Given the description of an element on the screen output the (x, y) to click on. 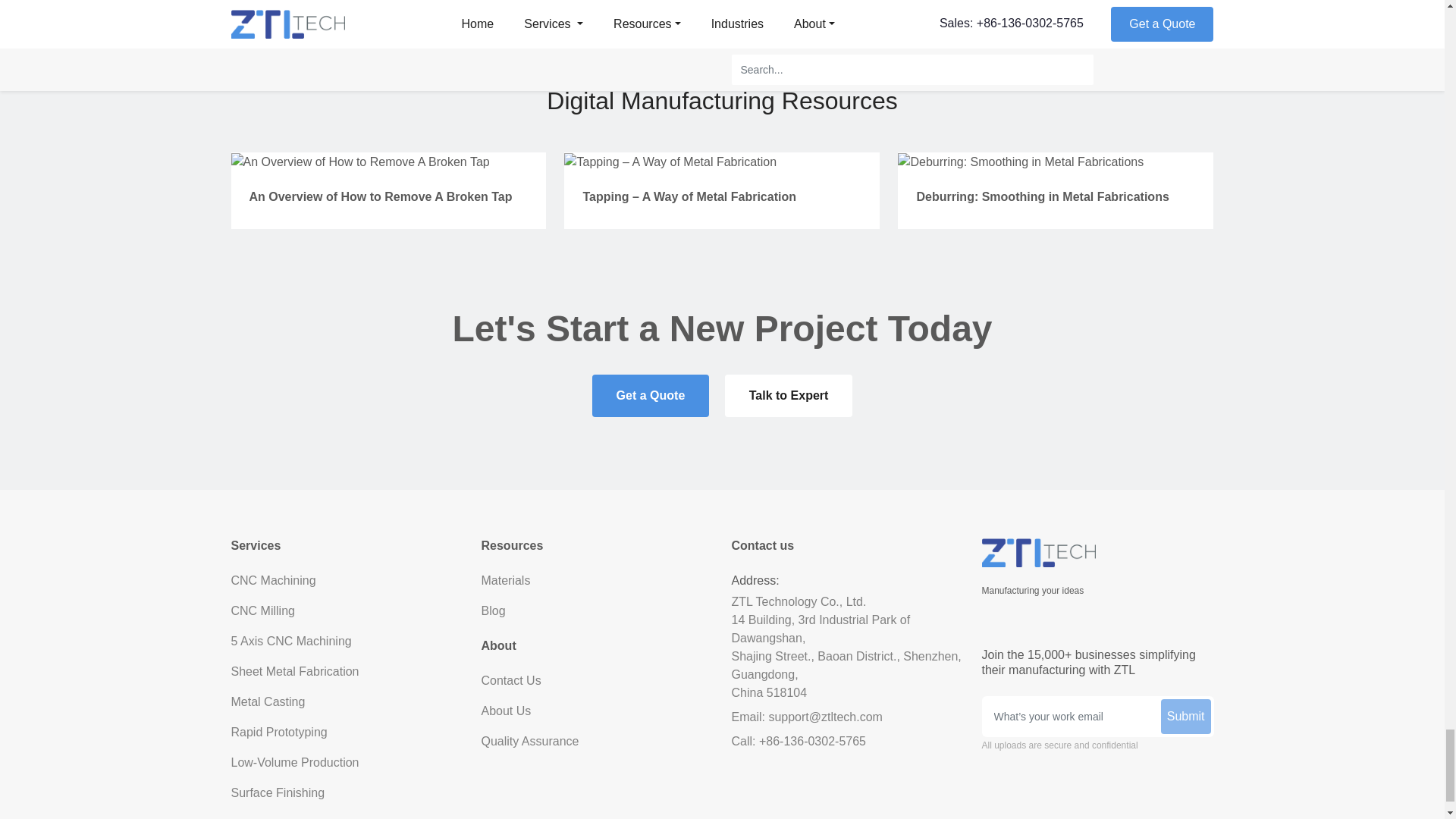
Submit (1185, 716)
